Given the description of an element on the screen output the (x, y) to click on. 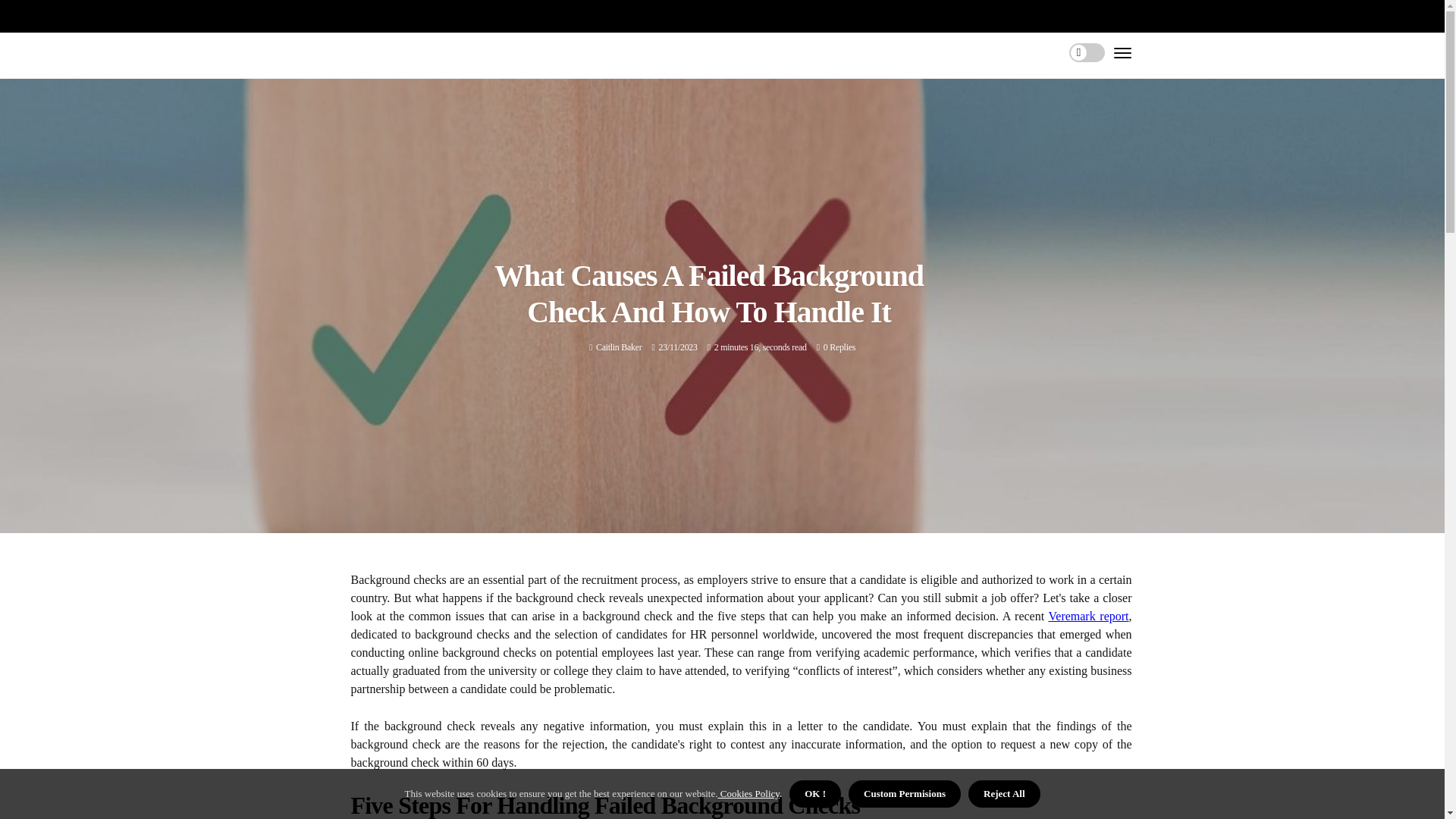
0 Replies (840, 347)
Posts by Caitlin Baker (618, 347)
Veremark report (1088, 615)
Caitlin Baker (618, 347)
